Given the description of an element on the screen output the (x, y) to click on. 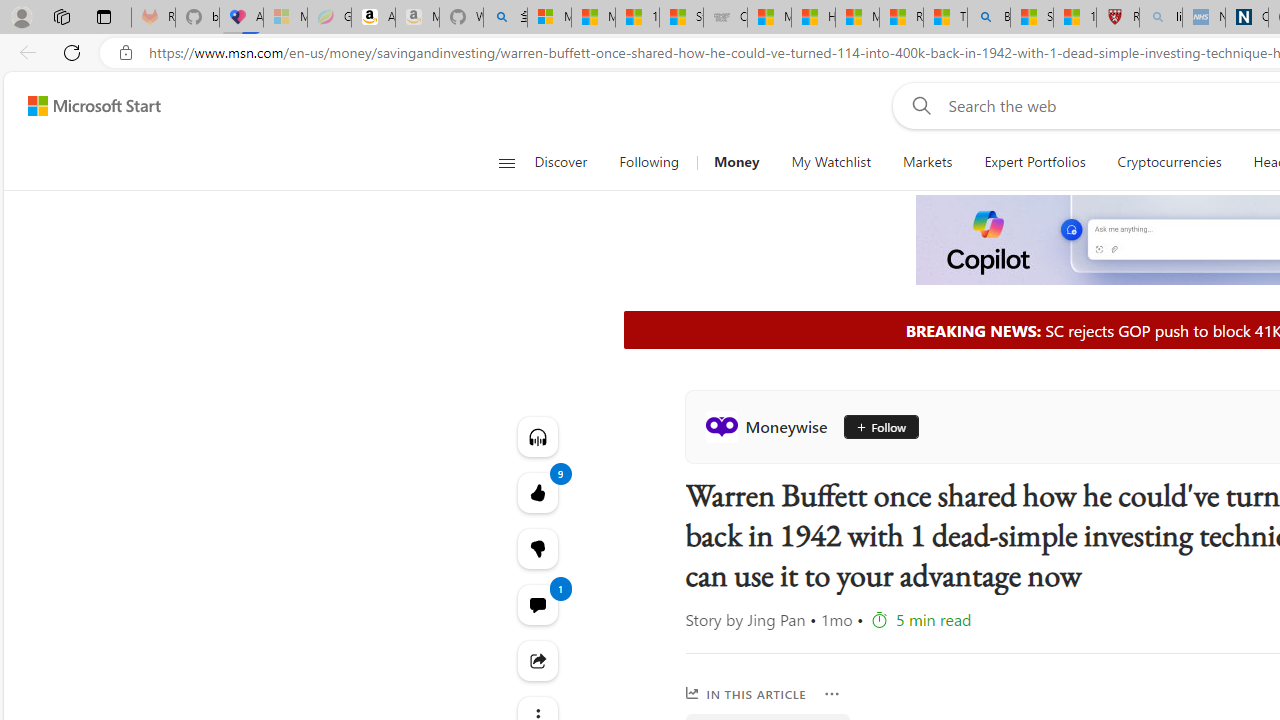
Class: at-item (537, 660)
Follow (873, 426)
Moneywise (770, 426)
Cryptocurrencies (1168, 162)
My Watchlist (830, 162)
